Given the description of an element on the screen output the (x, y) to click on. 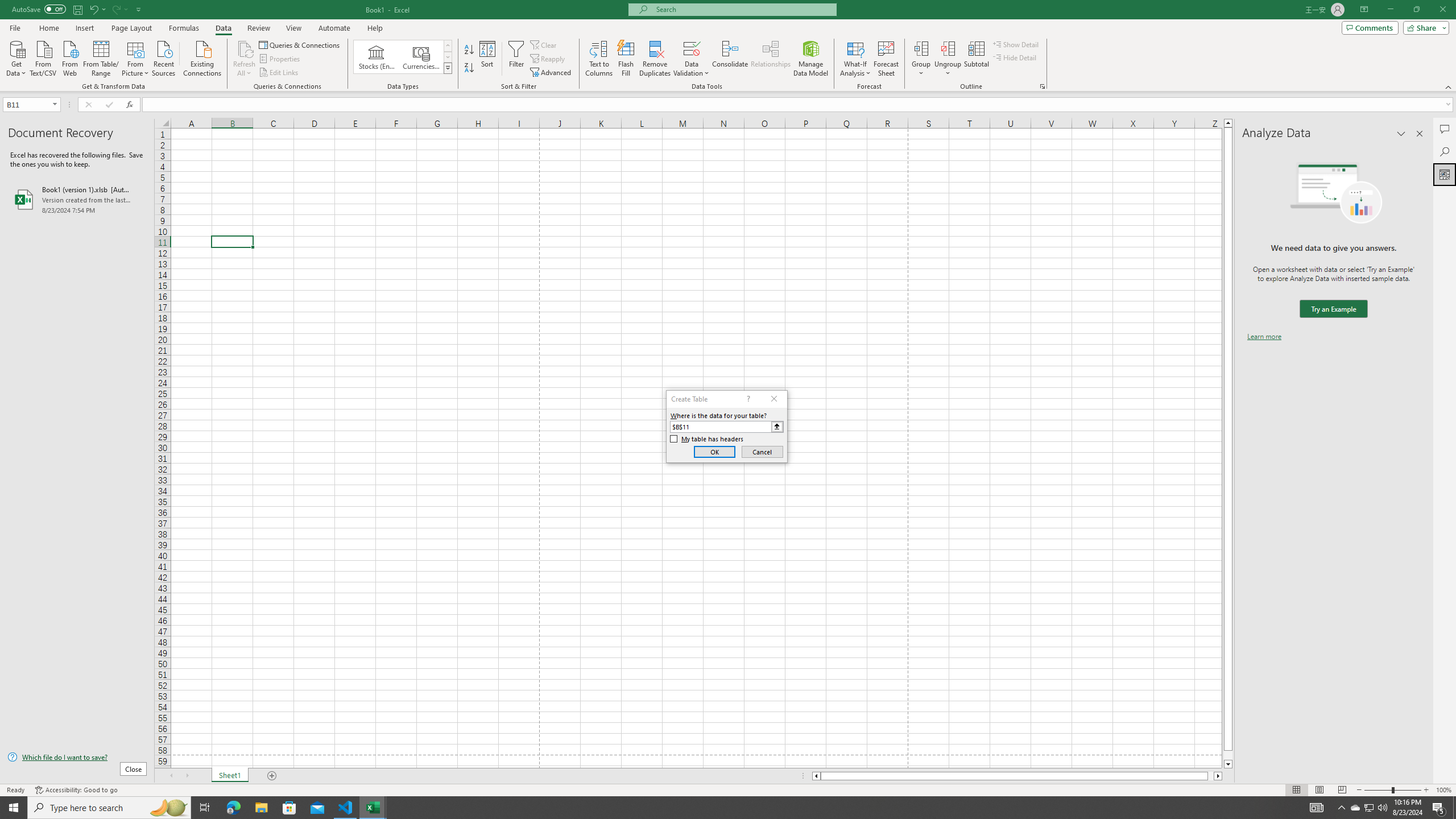
Share (1423, 27)
Consolidate... (729, 58)
Save (77, 9)
Class: MsoCommandBar (728, 45)
Automate (334, 28)
We need data to give you answers. Try an Example (1333, 308)
Stocks (English) (375, 56)
Hide Detail (1014, 56)
Book1 (version 1).xlsb  [AutoRecovered] (77, 199)
Close (1442, 9)
Close pane (1419, 133)
Scroll Left (171, 775)
AutomationID: ConvertToLinkedEntity (403, 56)
Add Sheet (272, 775)
